Given the description of an element on the screen output the (x, y) to click on. 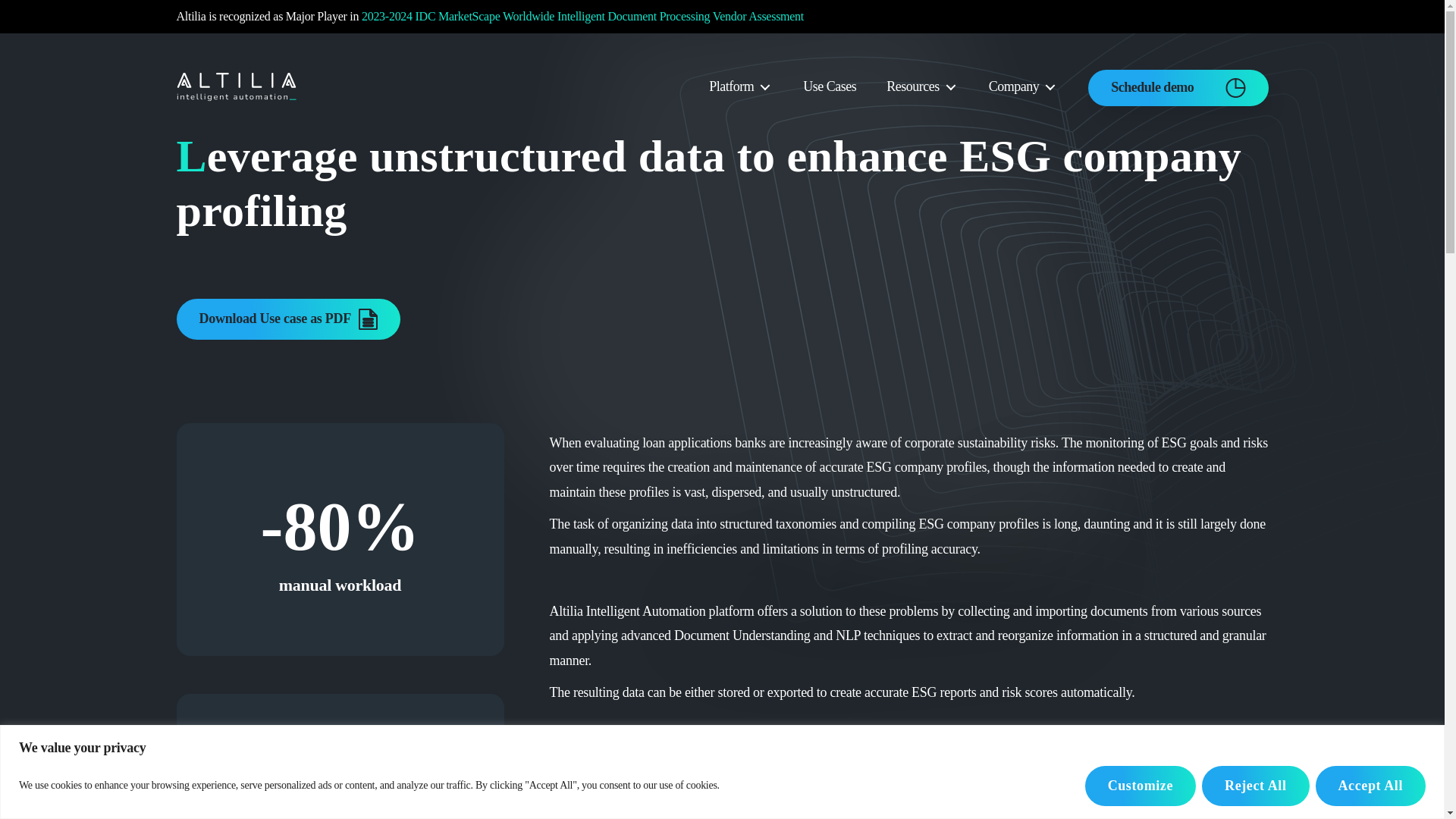
Resources (912, 87)
Accept All (1370, 785)
Customize (1139, 785)
Use Cases (829, 87)
Schedule demo (1177, 86)
Company (1013, 87)
Reject All (1255, 785)
Platform (731, 87)
